Given the description of an element on the screen output the (x, y) to click on. 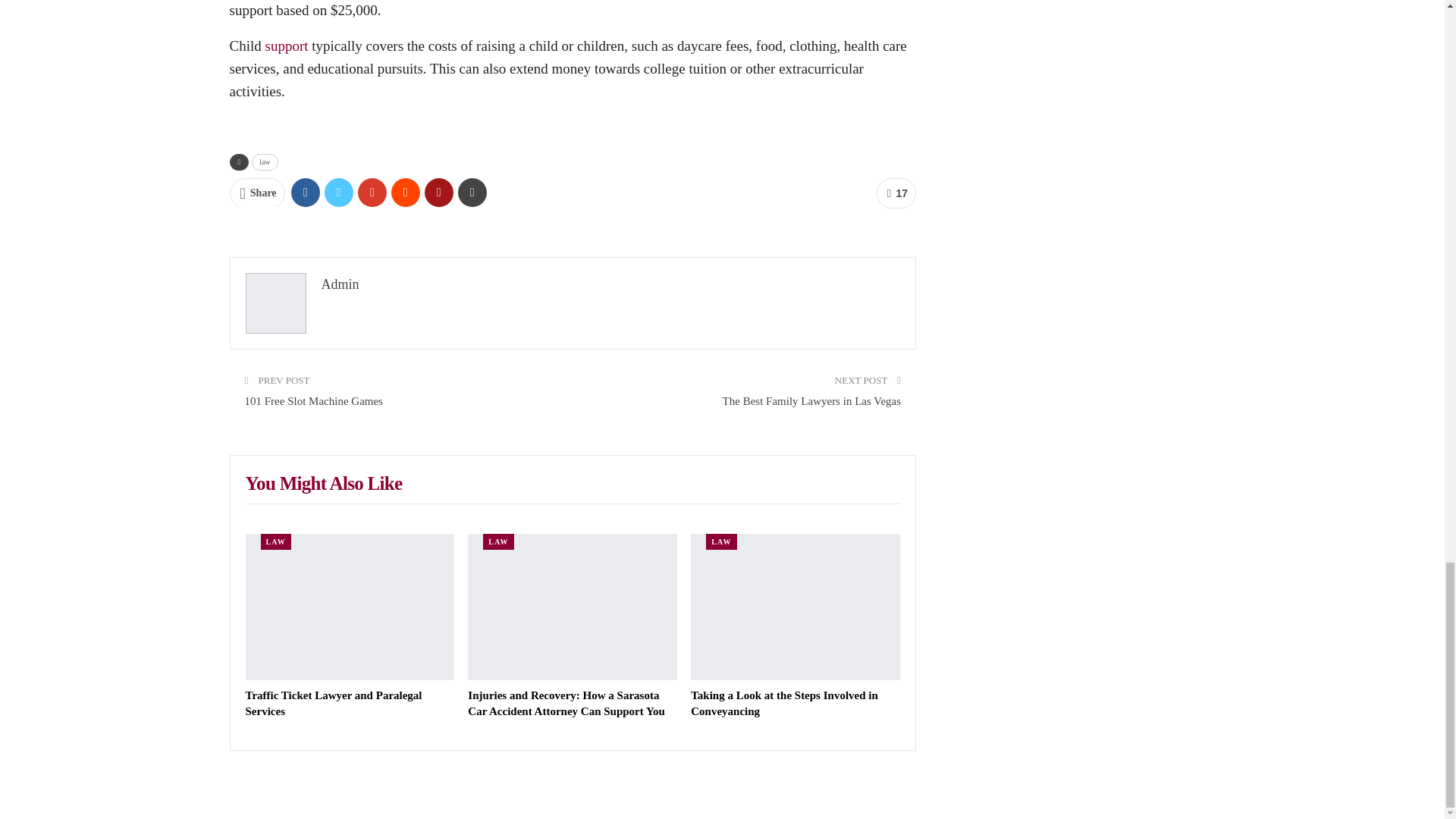
Taking a Look at the Steps Involved in Conveyancing (783, 703)
Taking a Look at the Steps Involved in Conveyancing (794, 606)
Traffic Ticket Lawyer and Paralegal Services (350, 606)
Traffic Ticket Lawyer and Paralegal Services (334, 703)
